Given the description of an element on the screen output the (x, y) to click on. 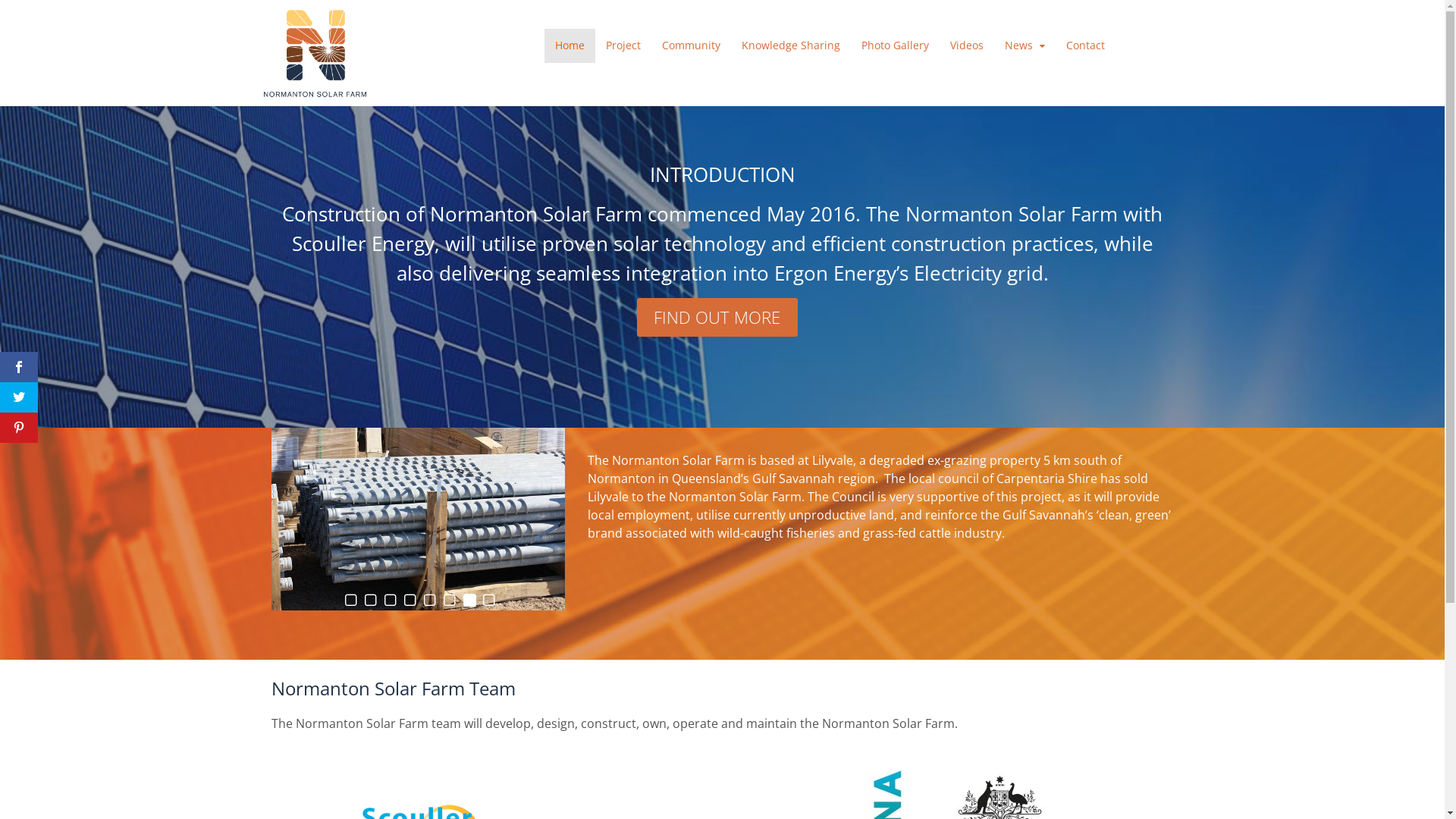
Home Element type: text (569, 45)
Contact Element type: text (1085, 45)
Knowledge Sharing Element type: text (790, 45)
News Element type: text (1025, 45)
FIND OUT MORE Element type: text (717, 317)
Videos Element type: text (966, 45)
Community Element type: text (691, 45)
Photo Gallery Element type: text (894, 45)
Project Element type: text (623, 45)
